Given the description of an element on the screen output the (x, y) to click on. 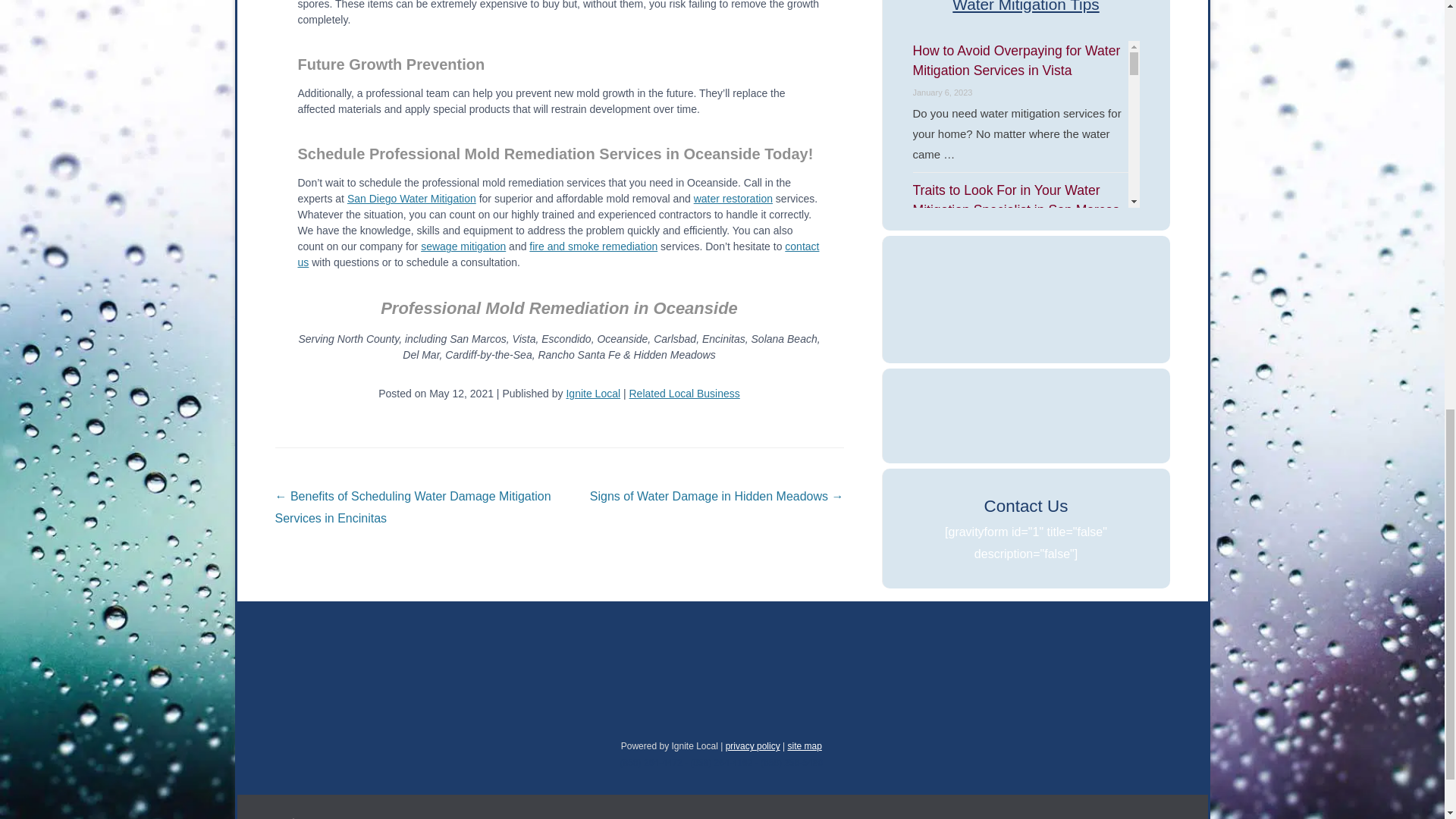
sewage mitigation (462, 246)
Ignite Local (593, 393)
contact us (557, 254)
water restoration (733, 198)
fire and smoke remediation (593, 246)
San Diego Water Mitigation (411, 198)
Related Local Business (683, 393)
Water Mitigation Tips (1026, 8)
